Given the description of an element on the screen output the (x, y) to click on. 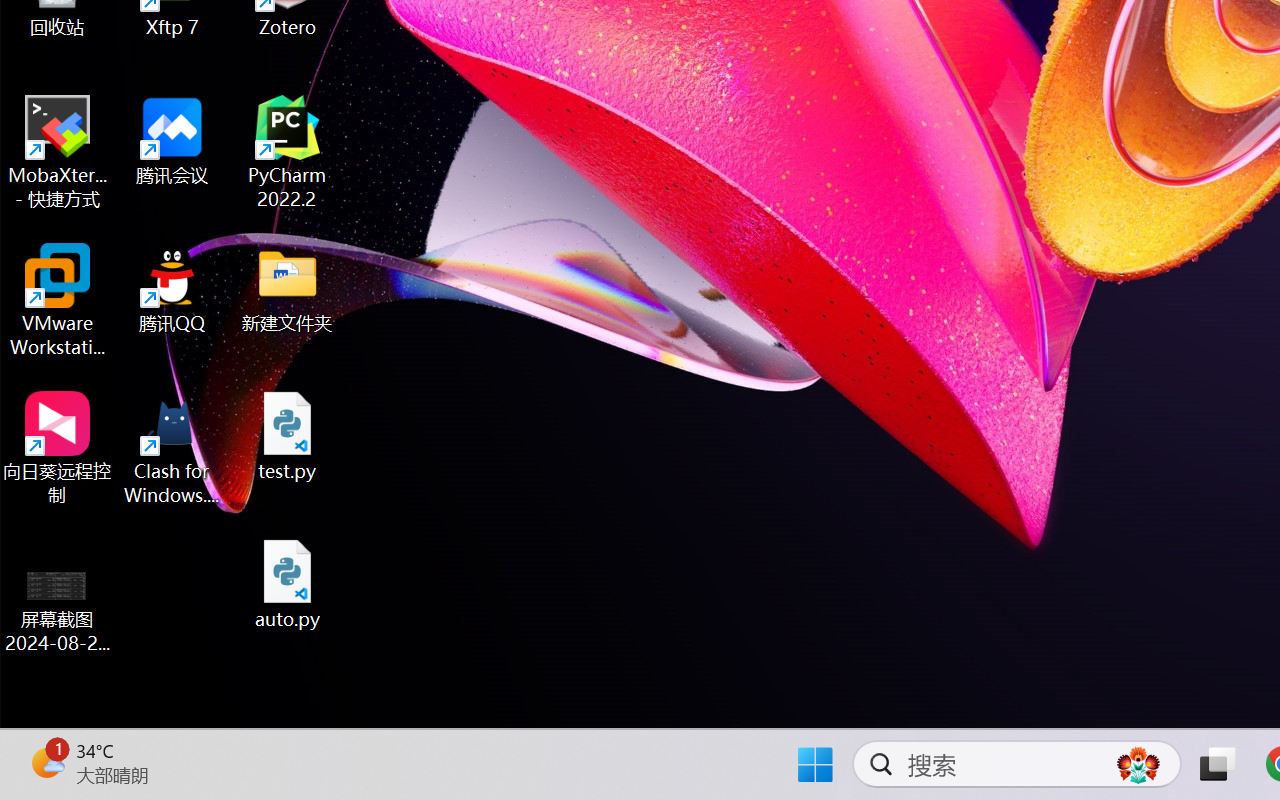
auto.py (287, 584)
